Given the description of an element on the screen output the (x, y) to click on. 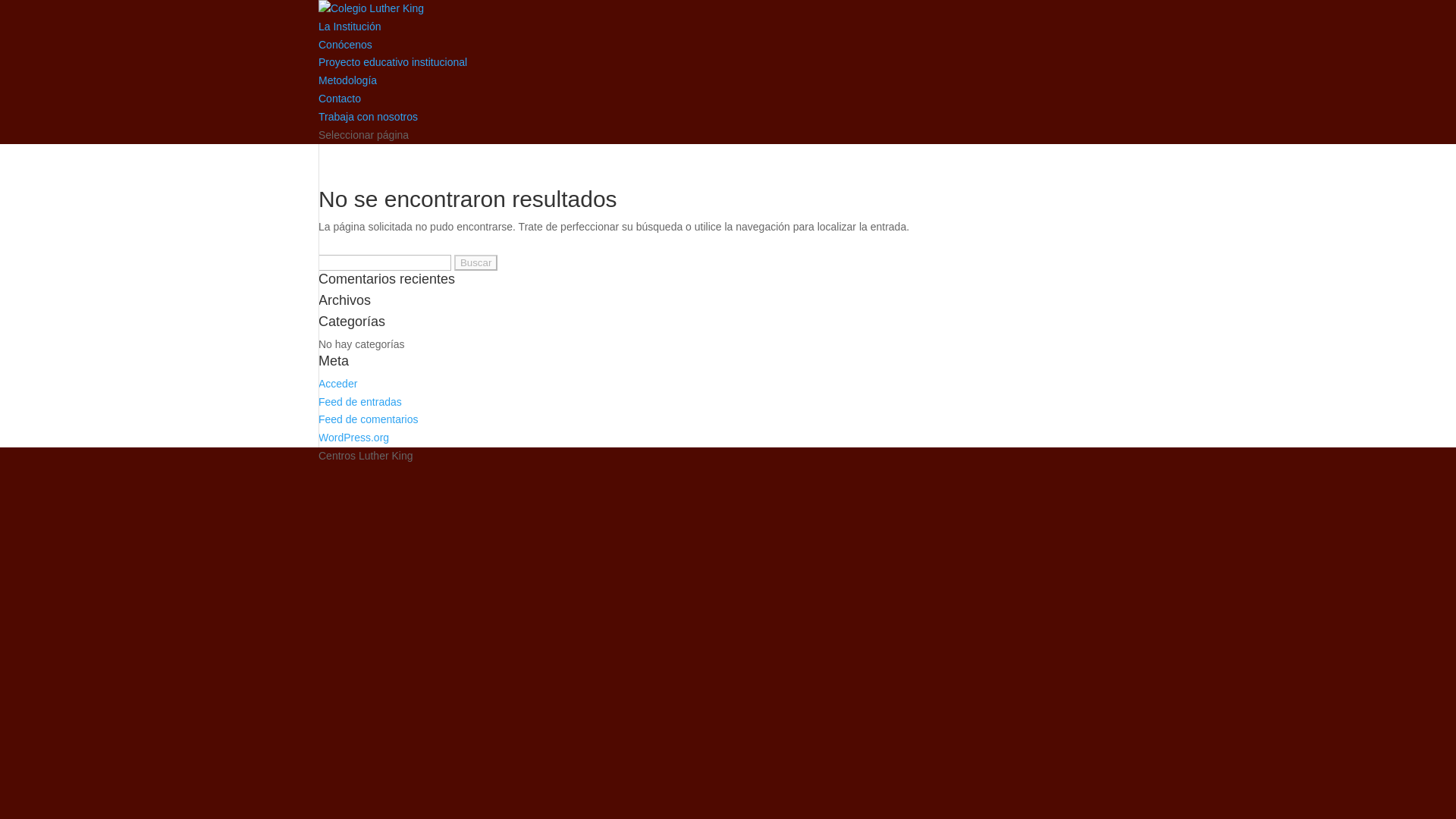
Trabaja con nosotros (367, 116)
WordPress.org (353, 437)
Feed de comentarios (368, 419)
Feed de entradas (359, 401)
Contacto (339, 98)
Acceder (337, 383)
Buscar (475, 262)
Buscar (475, 262)
Proyecto educativo institucional (392, 61)
